Given the description of an element on the screen output the (x, y) to click on. 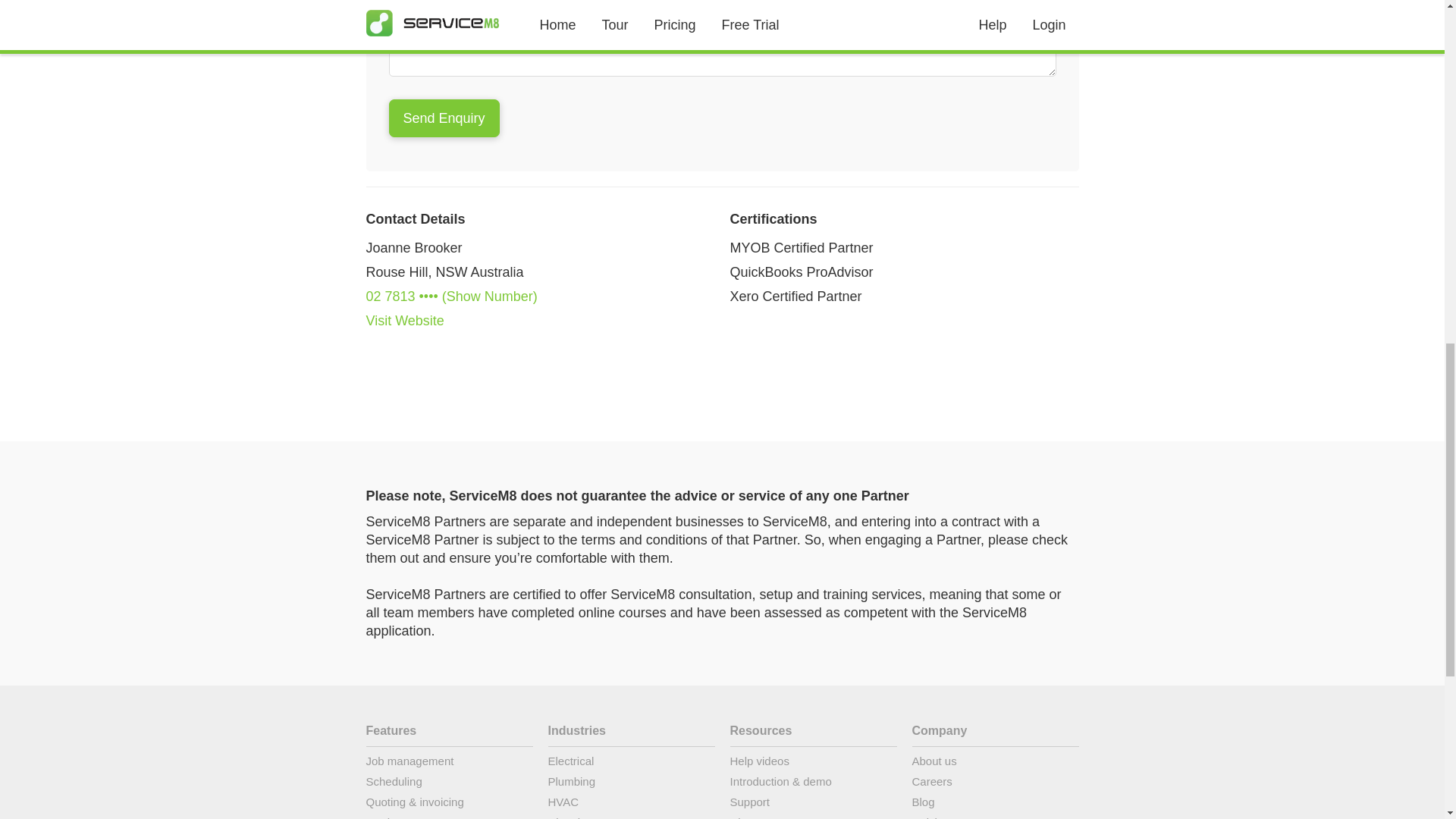
Job management (448, 763)
Scheduling (448, 783)
Send Enquiry (443, 118)
Cleaning (630, 816)
Support (812, 804)
Visit Website (404, 320)
Invoice payments (448, 816)
Plumbing (630, 783)
Send Enquiry (443, 118)
Electrical (630, 763)
Help videos (812, 763)
Hire an expert (812, 816)
HVAC (630, 804)
